Given the description of an element on the screen output the (x, y) to click on. 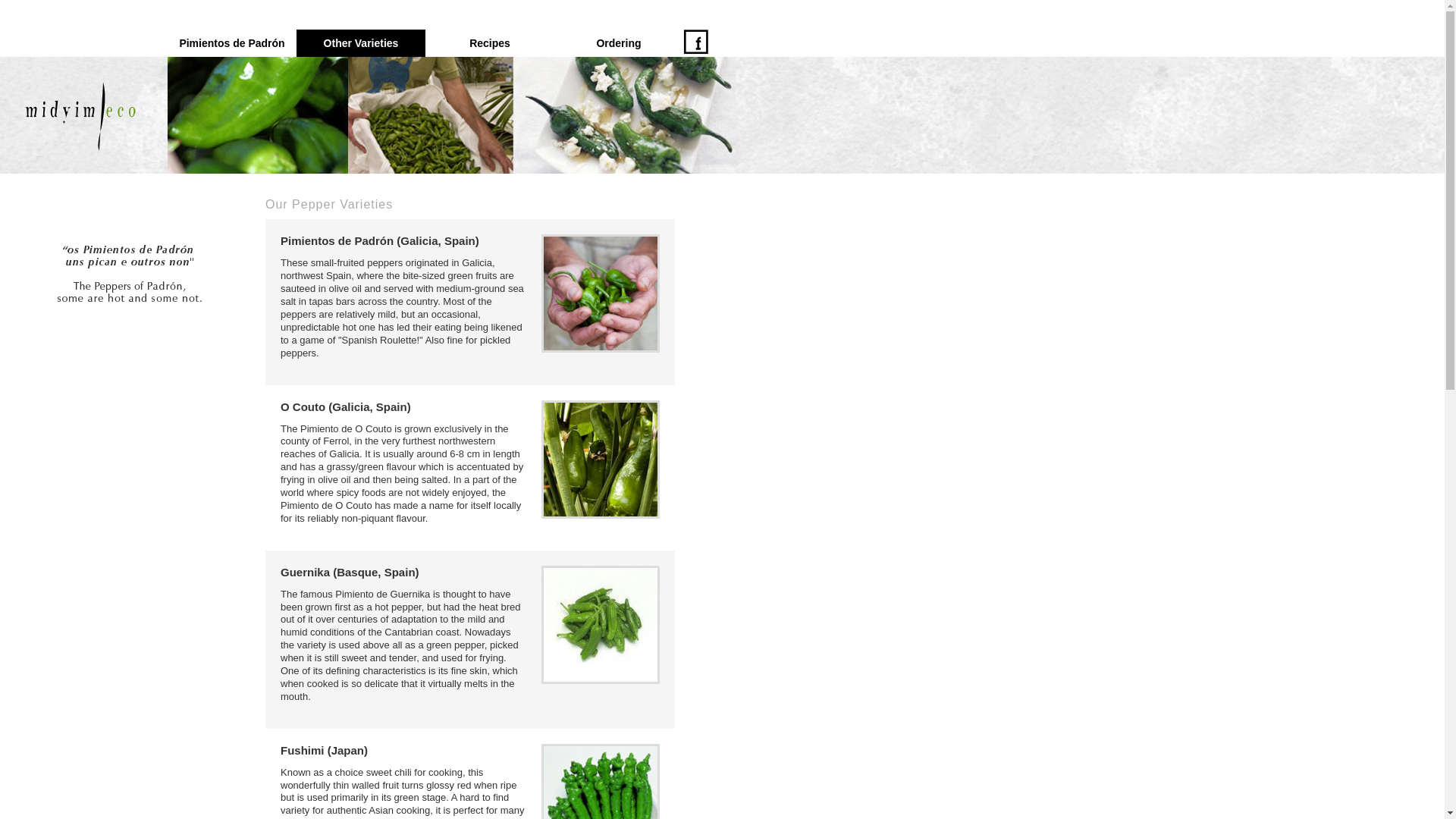
Recipes Element type: text (489, 42)
Facebook Element type: text (695, 49)
Ordering Element type: text (618, 42)
